Given the description of an element on the screen output the (x, y) to click on. 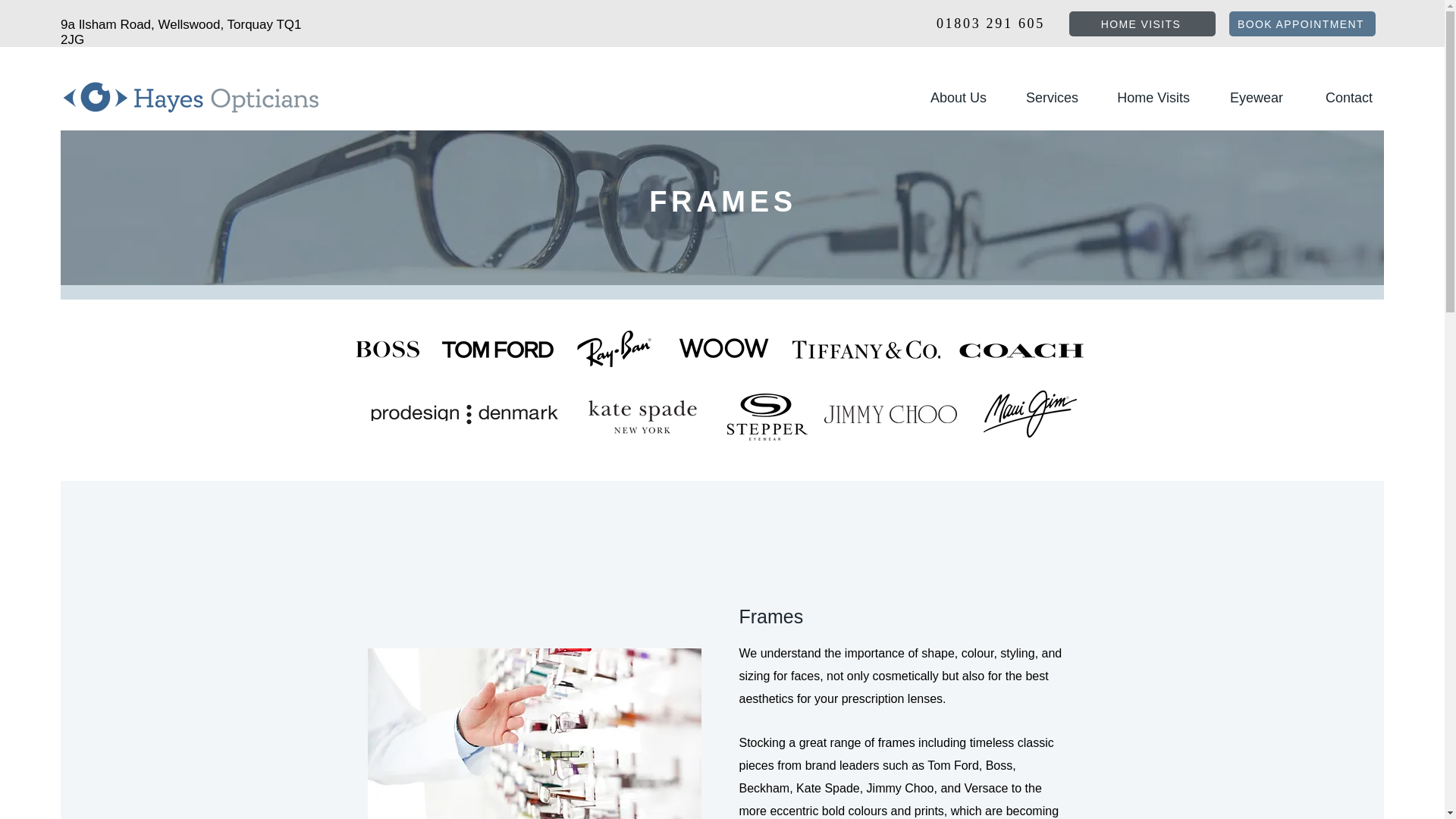
9a Ilsham Road, Wellswood, Torquay TQ1 2JG (181, 31)
About Us (949, 97)
 01803 291 605 (988, 23)
HOME VISITS (1141, 23)
Contact (1339, 97)
BOOK APPOINTMENT (1301, 23)
